Given the description of an element on the screen output the (x, y) to click on. 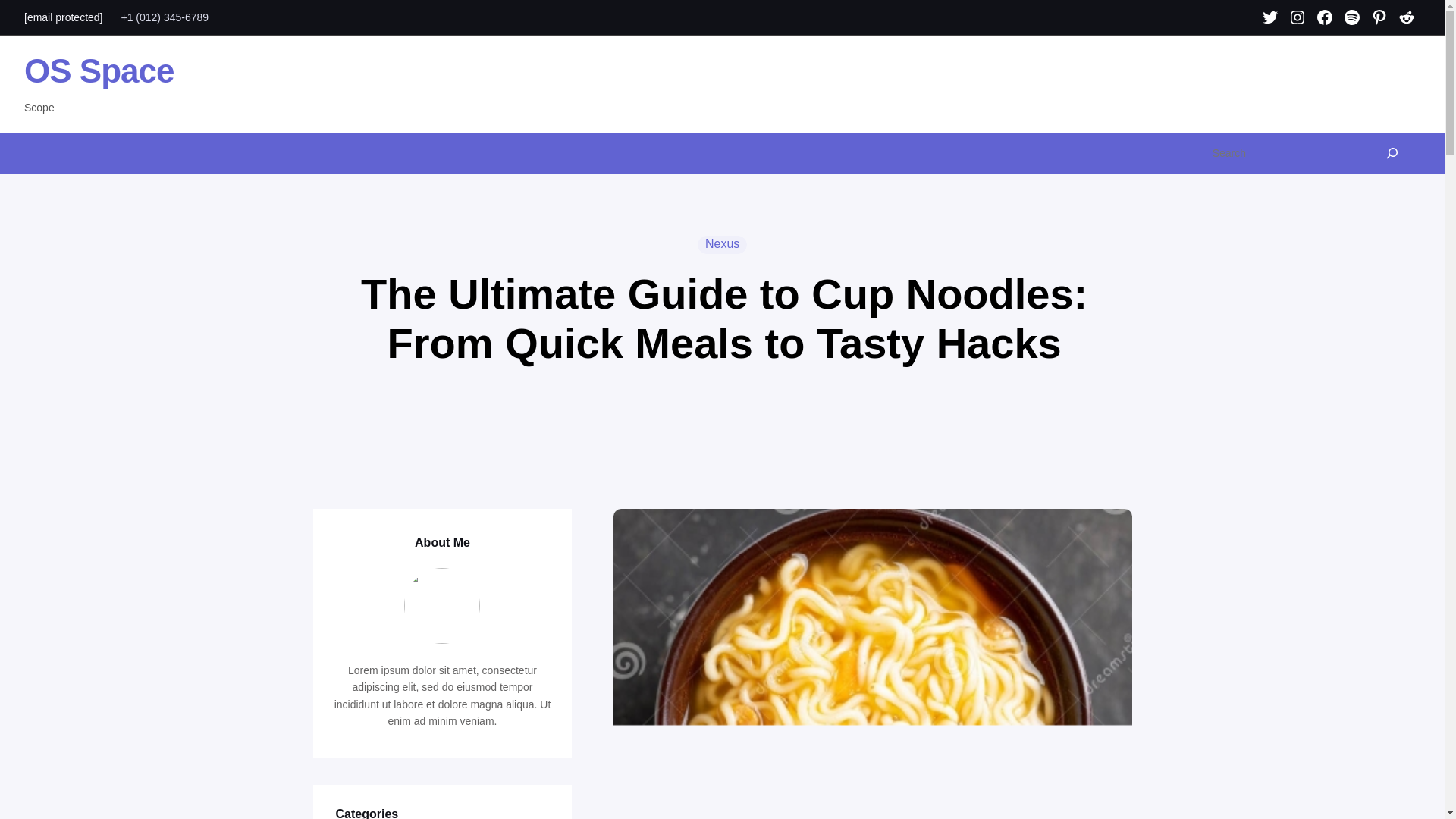
Facebook (1324, 17)
Twitter (1270, 17)
Reddit (1407, 17)
Pinterest (1379, 17)
OS Space (98, 70)
Instagram (1297, 17)
Nexus (721, 244)
Spotify (1351, 17)
